Given the description of an element on the screen output the (x, y) to click on. 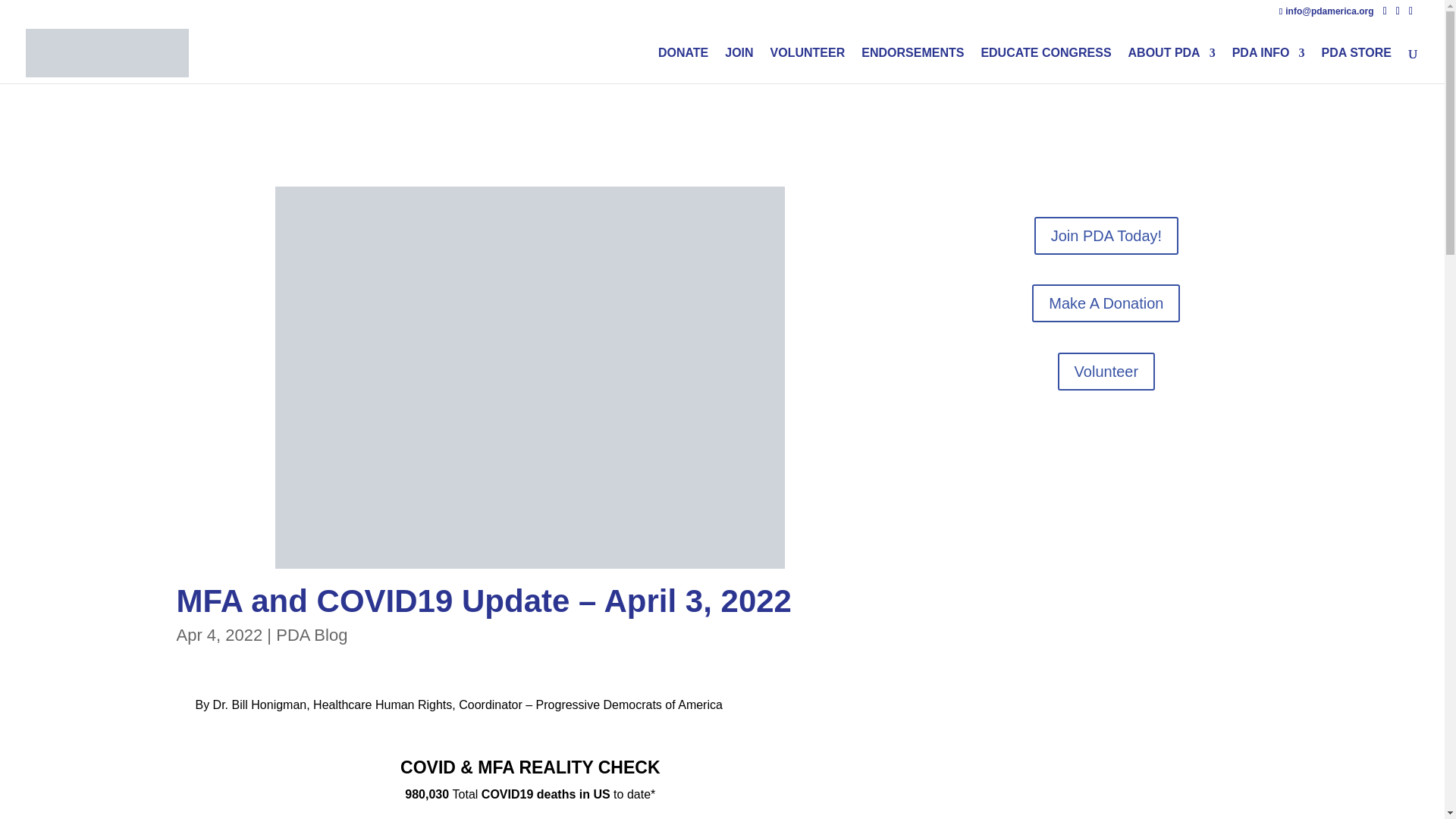
ENDORSEMENTS (912, 65)
EDUCATE CONGRESS (1044, 65)
VOLUNTEER (807, 65)
PDA STORE (1356, 65)
Volunteer (1107, 371)
DONATE (682, 65)
PDA INFO (1267, 65)
Make A Donation (1105, 303)
ABOUT PDA (1171, 65)
Join PDA Today! (1105, 235)
